Given the description of an element on the screen output the (x, y) to click on. 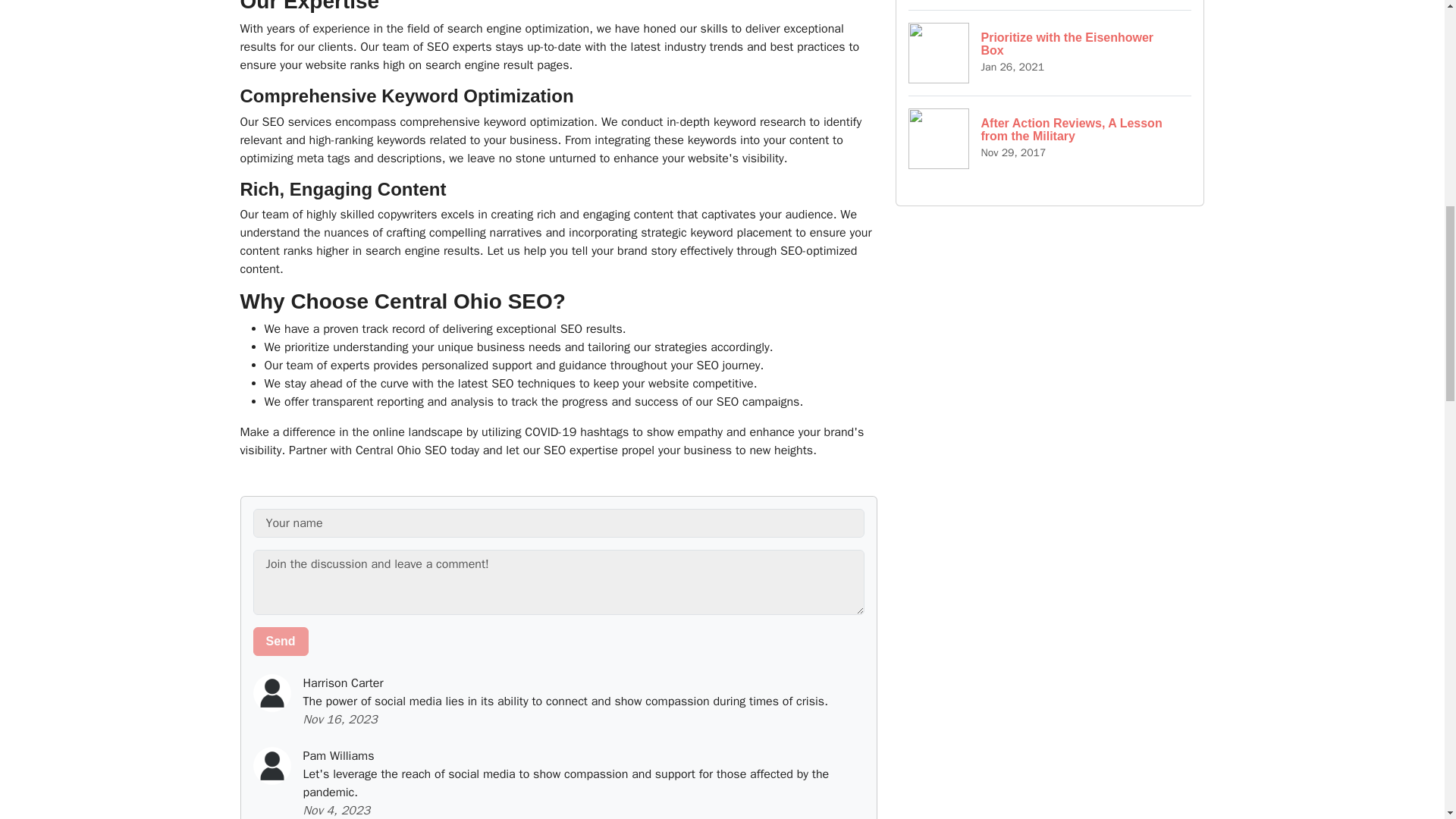
Send (280, 641)
Send (280, 641)
